Given the description of an element on the screen output the (x, y) to click on. 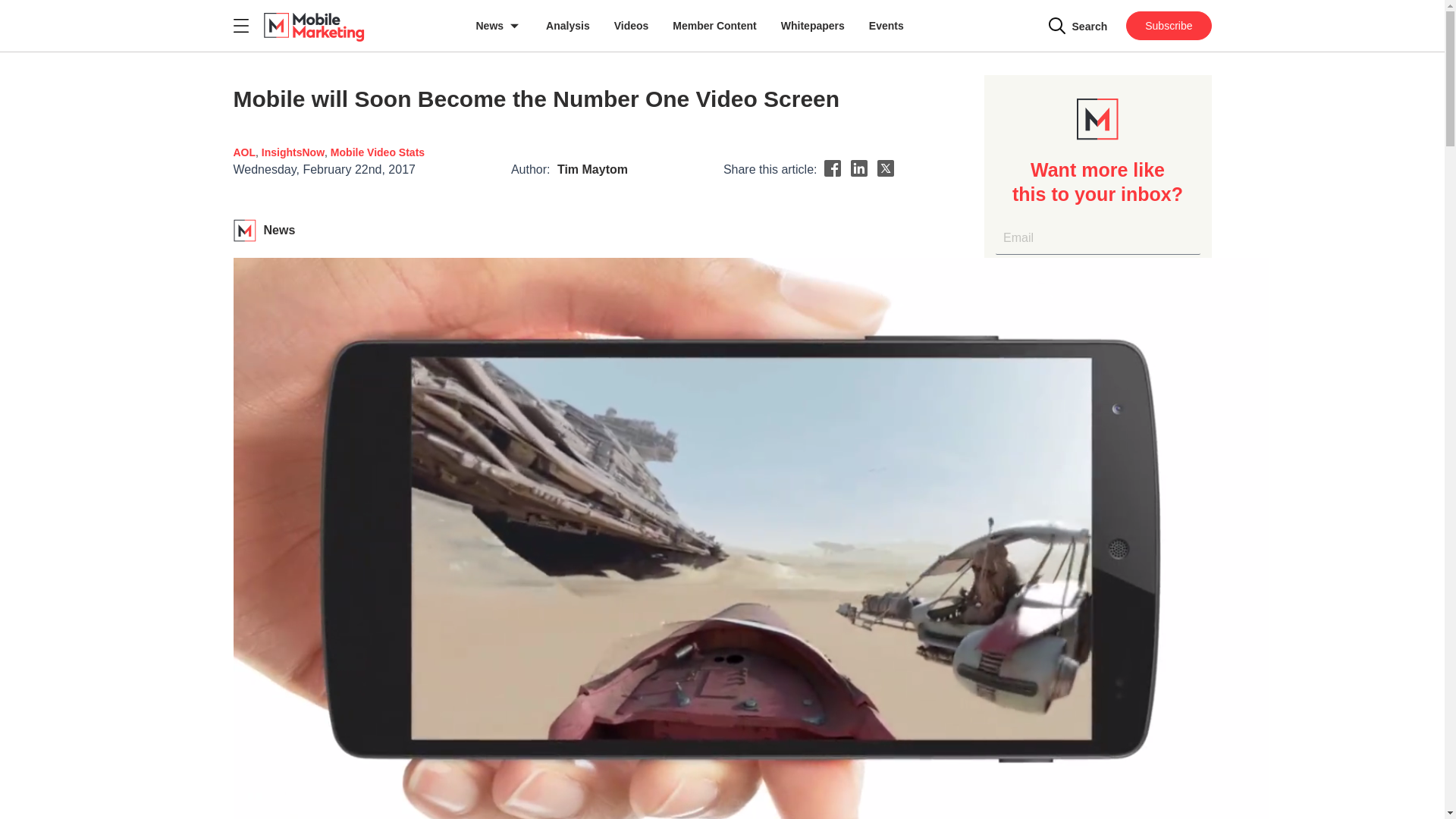
News (499, 25)
Sign up (1097, 284)
